Given the description of an element on the screen output the (x, y) to click on. 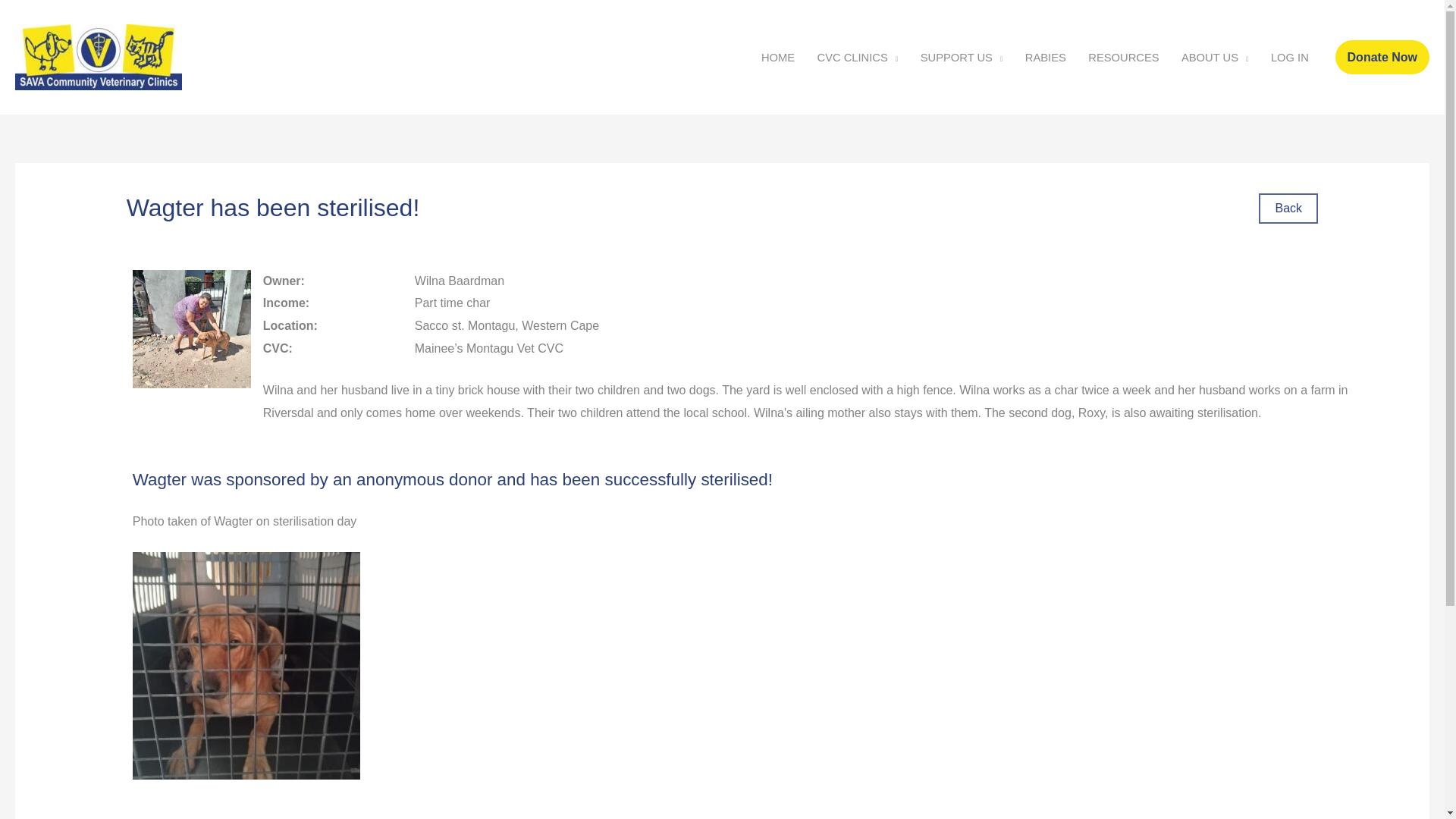
LOG IN (1289, 56)
Donate to SAVA-CVC (1382, 57)
HOME (777, 56)
SUPPORT US (960, 56)
RABIES (1045, 56)
ABOUT US (1214, 56)
RESOURCES (1123, 56)
Donate Now (1382, 57)
CVC CLINICS (857, 56)
